Given the description of an element on the screen output the (x, y) to click on. 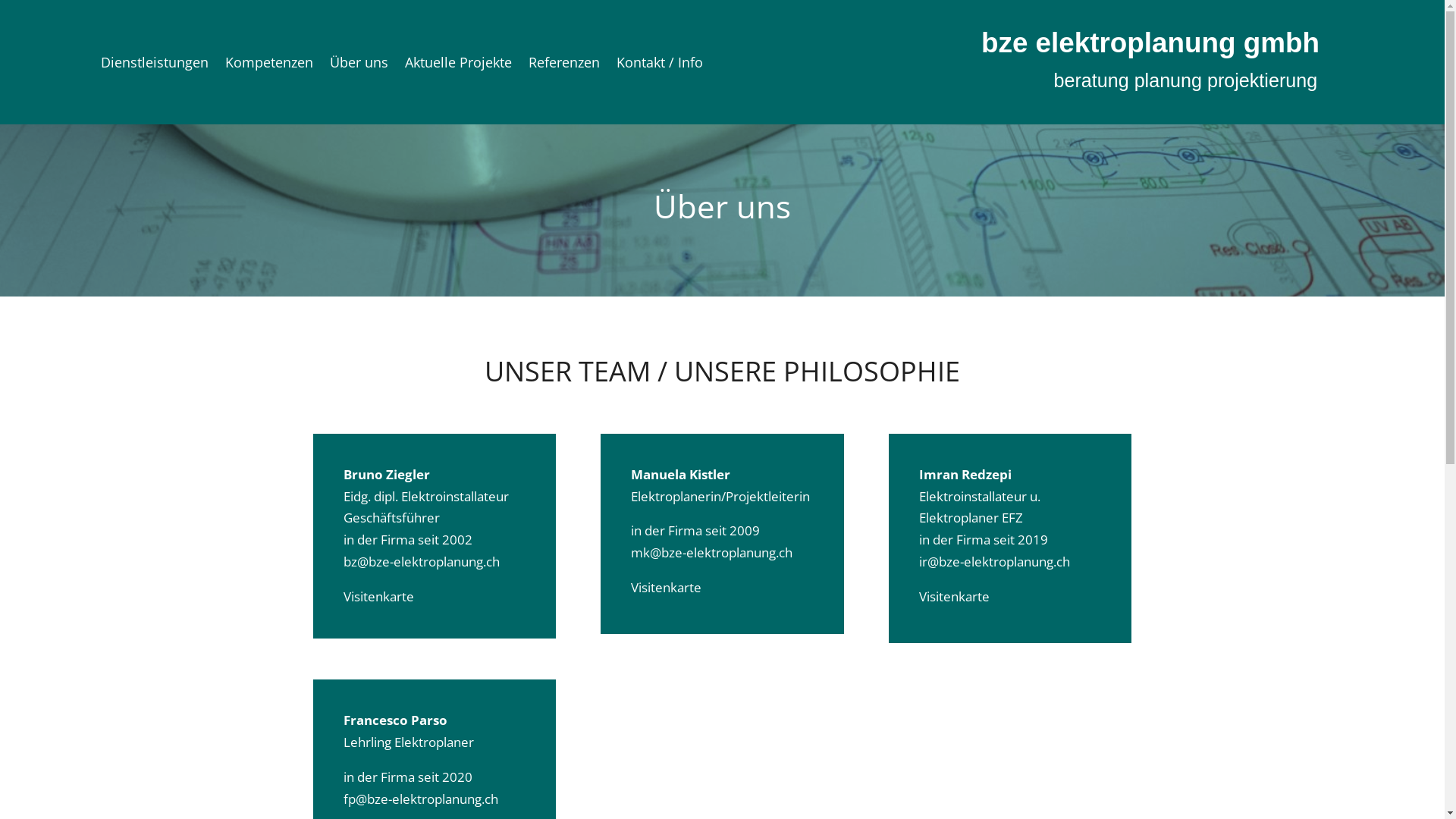
Visitenkarte Element type: text (954, 596)
Kontakt / Info Element type: text (659, 64)
Visitenkarte Element type: text (665, 587)
bze-logo Element type: hover (1159, 62)
mk@bze-elektroplanung.ch Element type: text (711, 552)
Visitenkarte Element type: text (377, 596)
Kompetenzen Element type: text (269, 64)
bz@bze-elektroplanung.ch Element type: text (420, 561)
ir@bze-elektroplanung.ch Element type: text (994, 561)
Referenzen Element type: text (563, 64)
Dienstleistungen Element type: text (154, 64)
Aktuelle Projekte Element type: text (457, 64)
fp@bze-elektroplanung.ch Element type: text (419, 798)
